Given the description of an element on the screen output the (x, y) to click on. 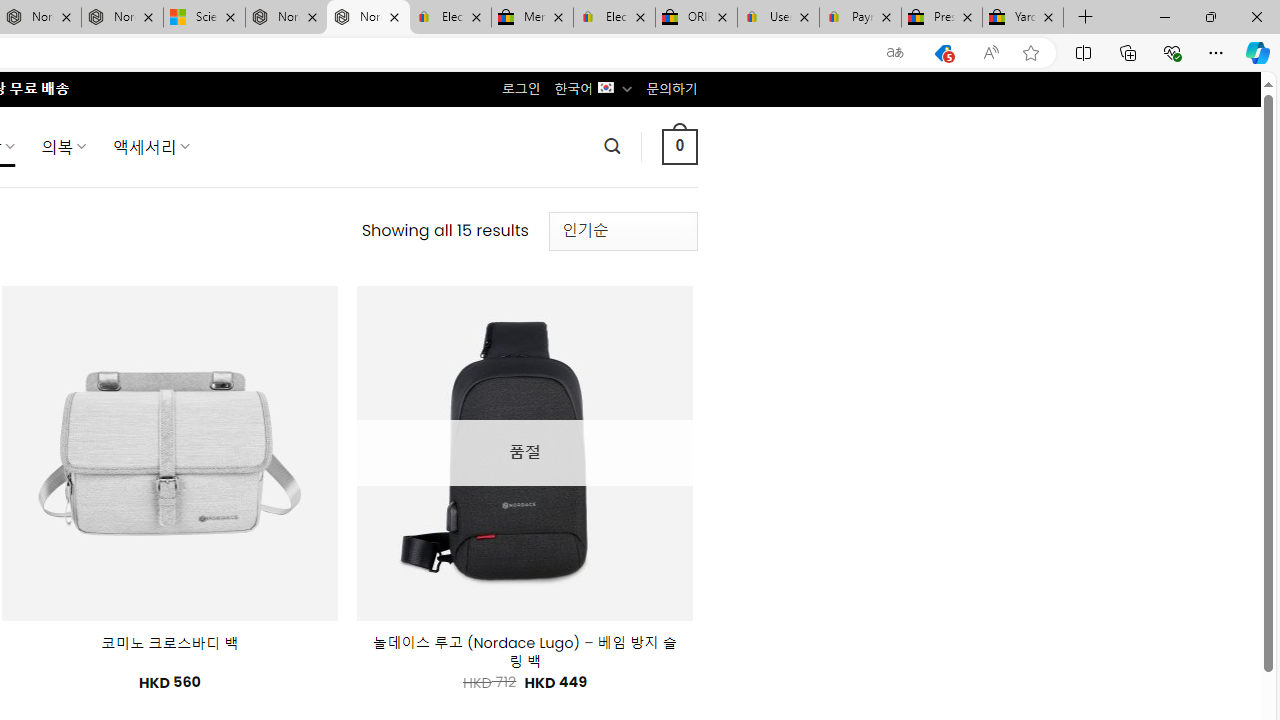
  0   (679, 146)
Press Room - eBay Inc. (941, 17)
Nordace - Summer Adventures 2024 (285, 17)
